Given the description of an element on the screen output the (x, y) to click on. 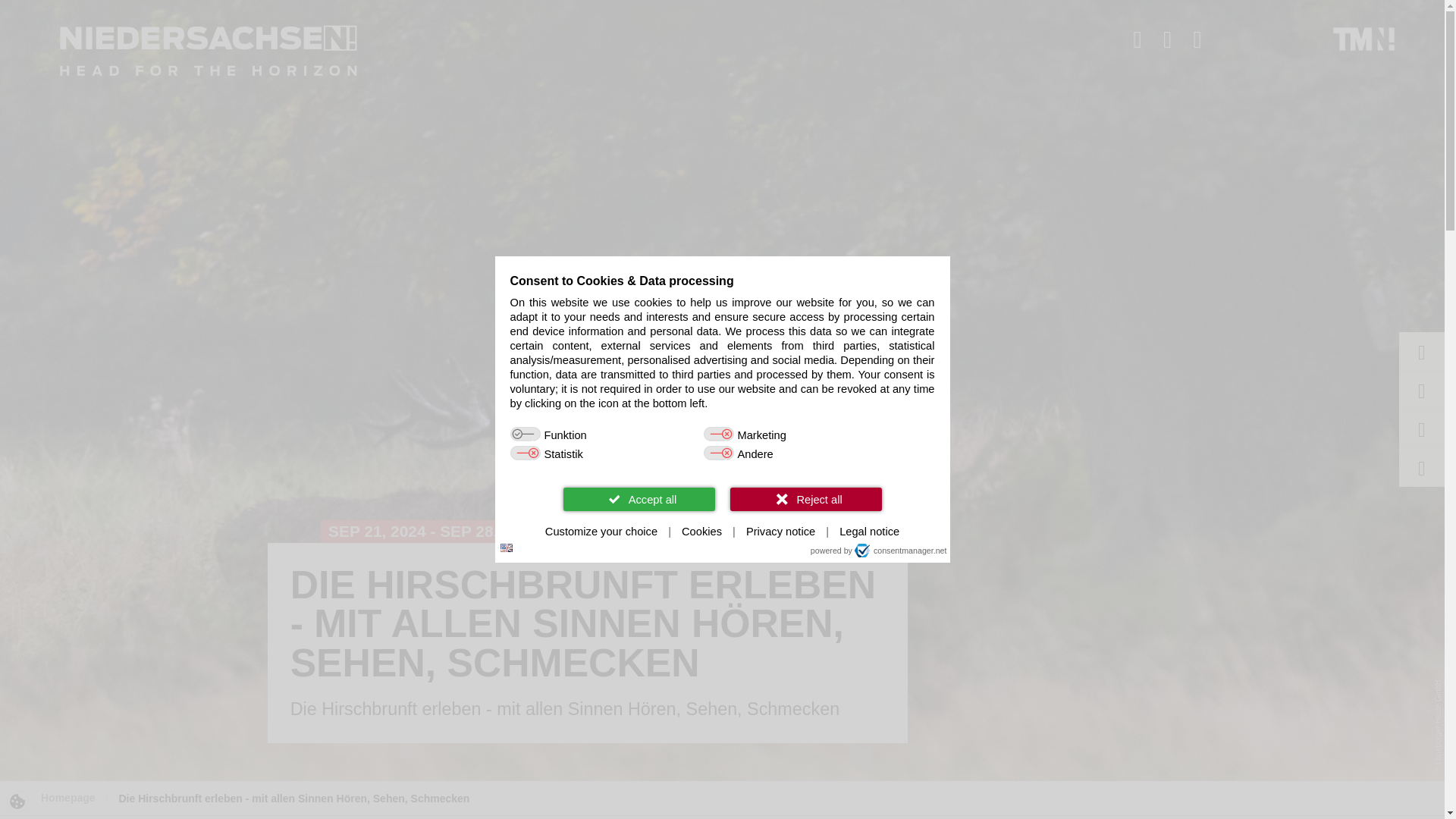
Purpose (721, 444)
Privacy settings (17, 801)
Legal notice (869, 531)
Language: en (506, 547)
Accept all (638, 498)
Cookies (701, 531)
Reject all (804, 498)
Language: en (506, 547)
consentmanager.net (900, 549)
Privacy notice (780, 531)
Customize your choice (601, 531)
Homepage (68, 797)
